Given the description of an element on the screen output the (x, y) to click on. 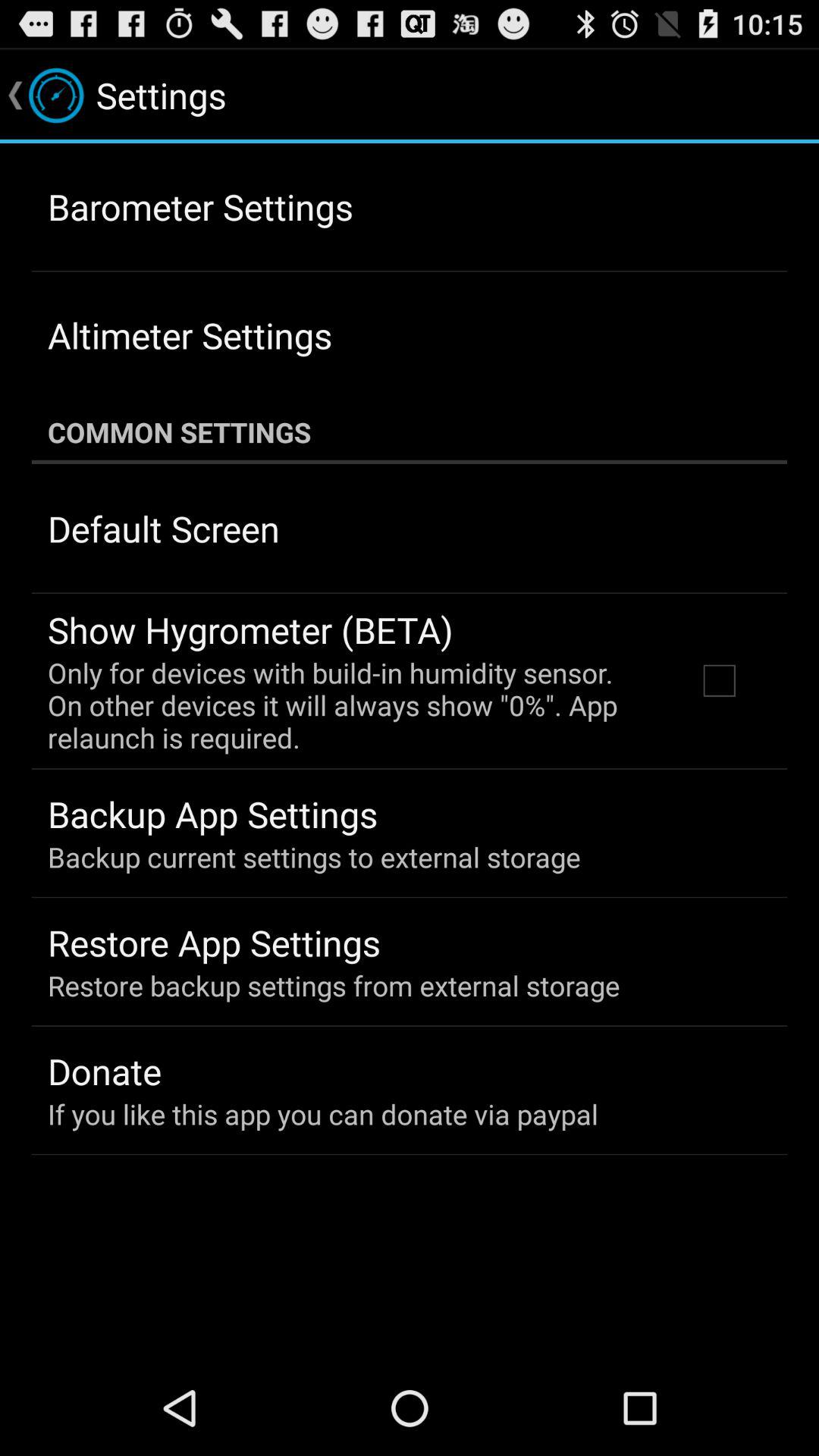
choose the item above default screen item (409, 432)
